Given the description of an element on the screen output the (x, y) to click on. 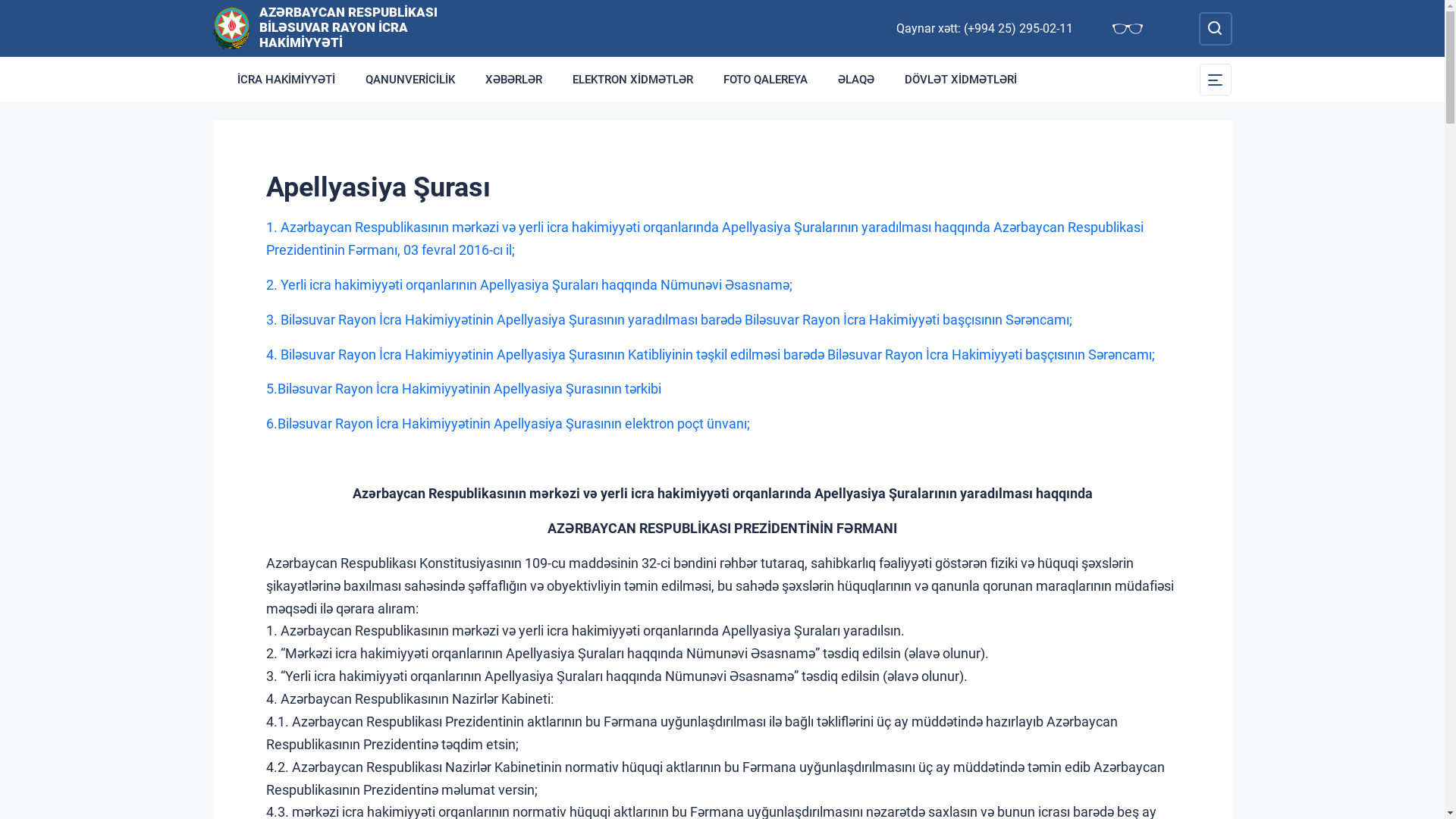
FOTO QALEREYA Element type: text (765, 79)
QANUNVERICILIK Element type: text (410, 79)
